Given the description of an element on the screen output the (x, y) to click on. 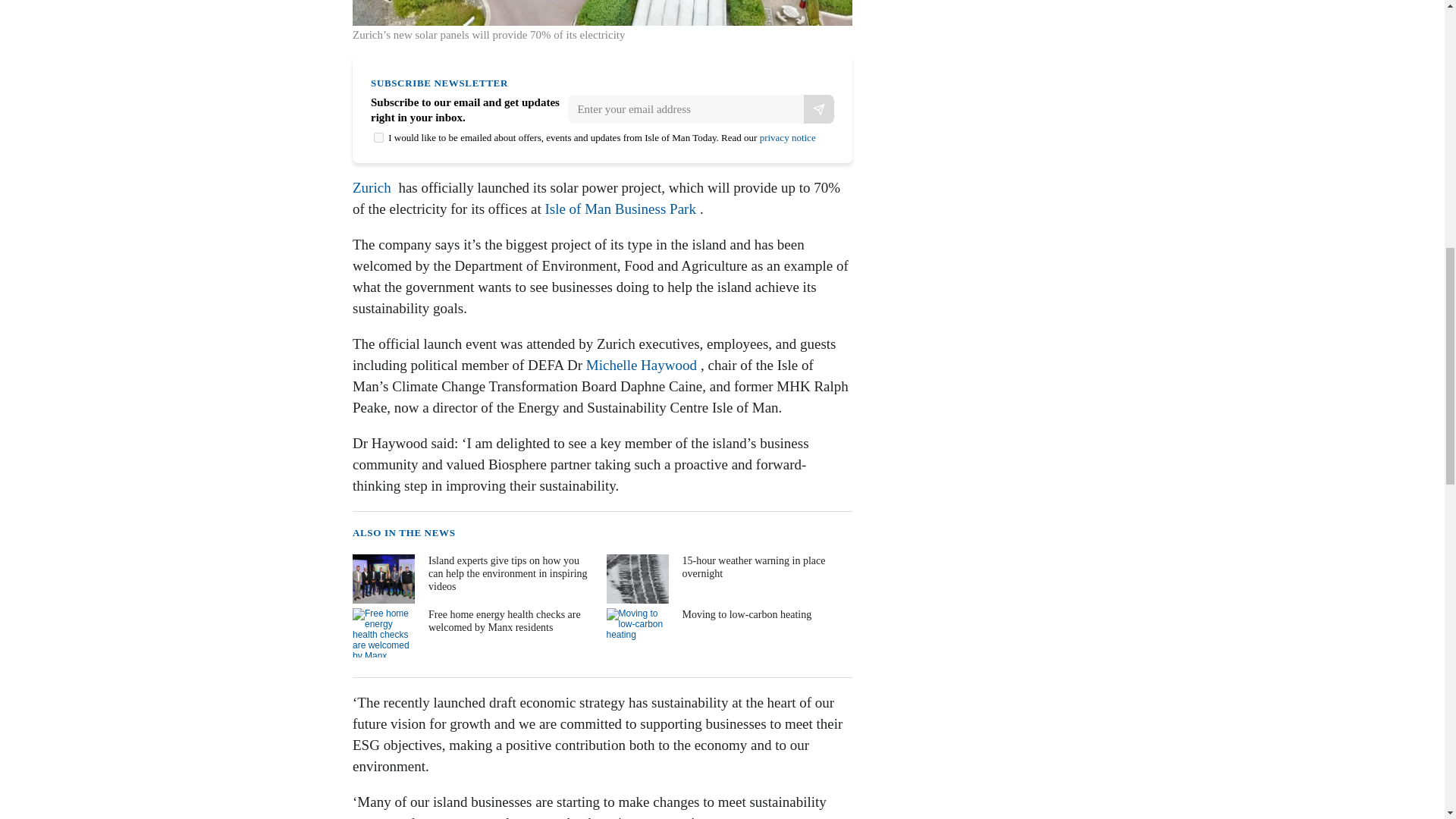
15-hour weather warning in place overnight (727, 578)
Isle of Man Business Park (619, 208)
privacy notice (787, 137)
Michelle Haywood (641, 365)
Moving to low-carbon heating (727, 632)
Zurich (371, 187)
on (379, 137)
